Given the description of an element on the screen output the (x, y) to click on. 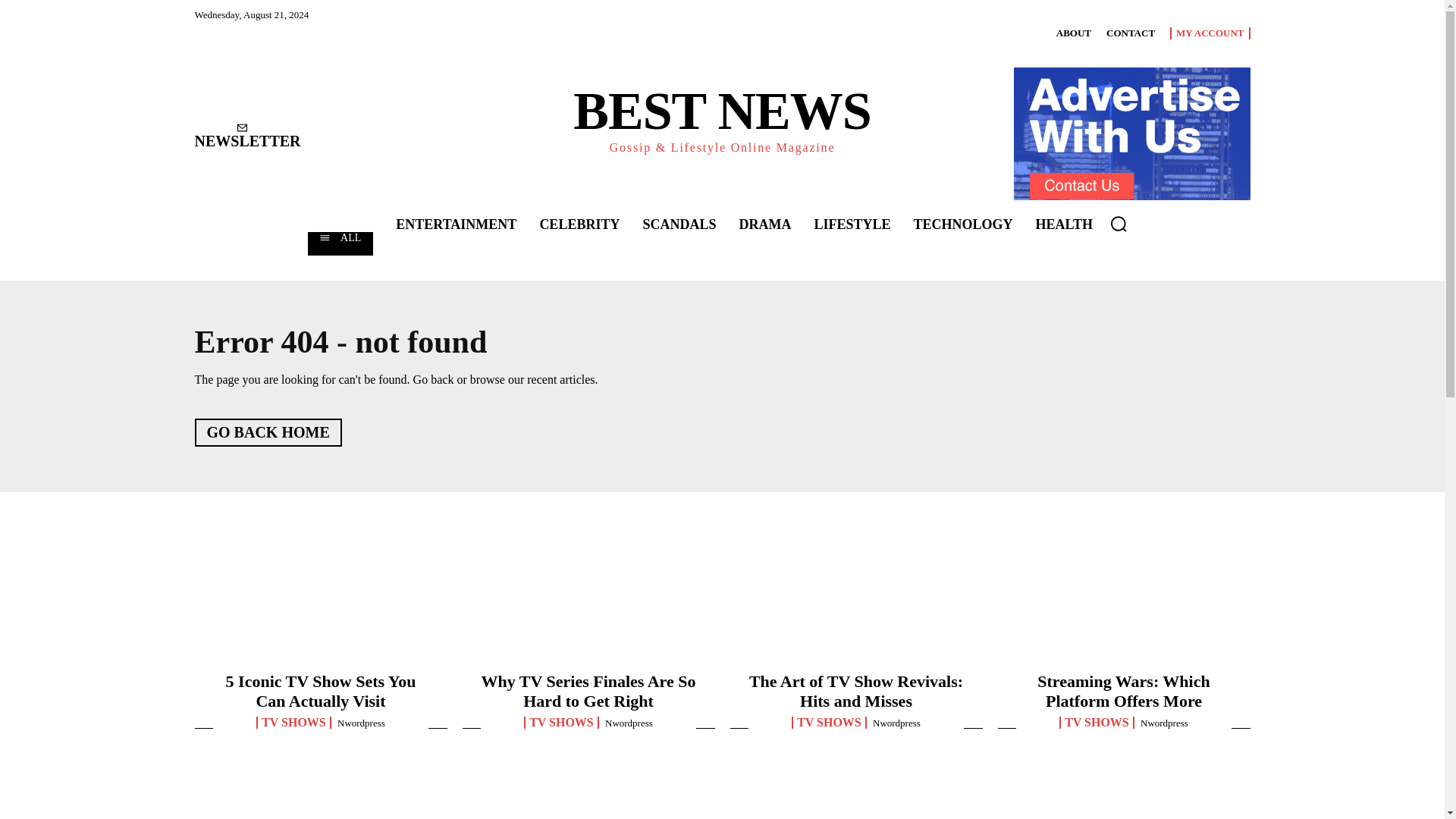
NEWSLETTER (246, 135)
All (339, 243)
ABOUT (1073, 33)
CONTACT (1130, 33)
Newsletter (246, 135)
ALL (339, 243)
